Given the description of an element on the screen output the (x, y) to click on. 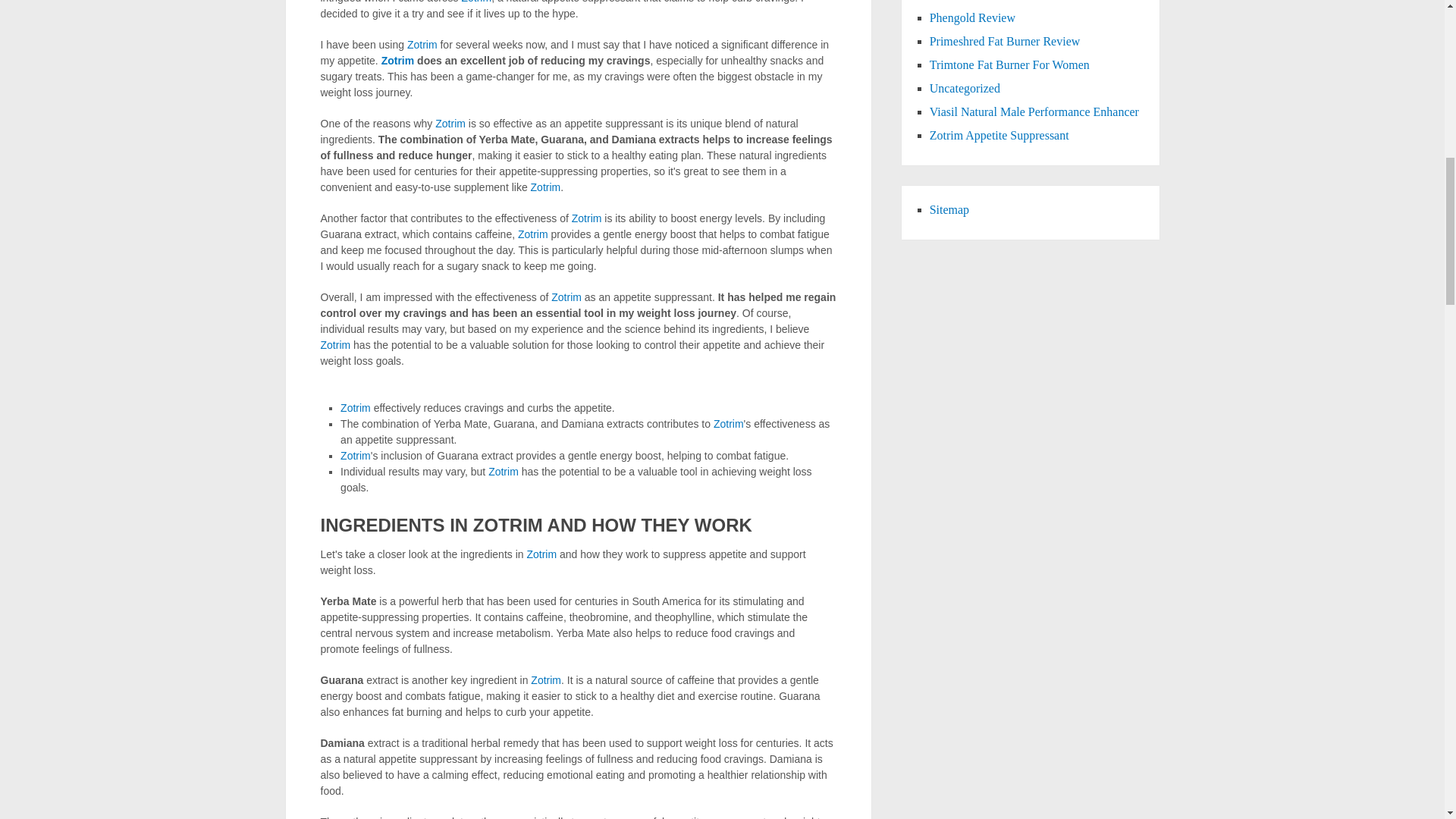
Zotrim (545, 186)
Zotrim (587, 218)
Zotrim (335, 345)
Zotrim (476, 2)
Zotrim (397, 60)
Zotrim (565, 297)
Zotrim (422, 44)
Zotrim (728, 423)
Zotrim (355, 455)
Zotrim (450, 123)
